Given the description of an element on the screen output the (x, y) to click on. 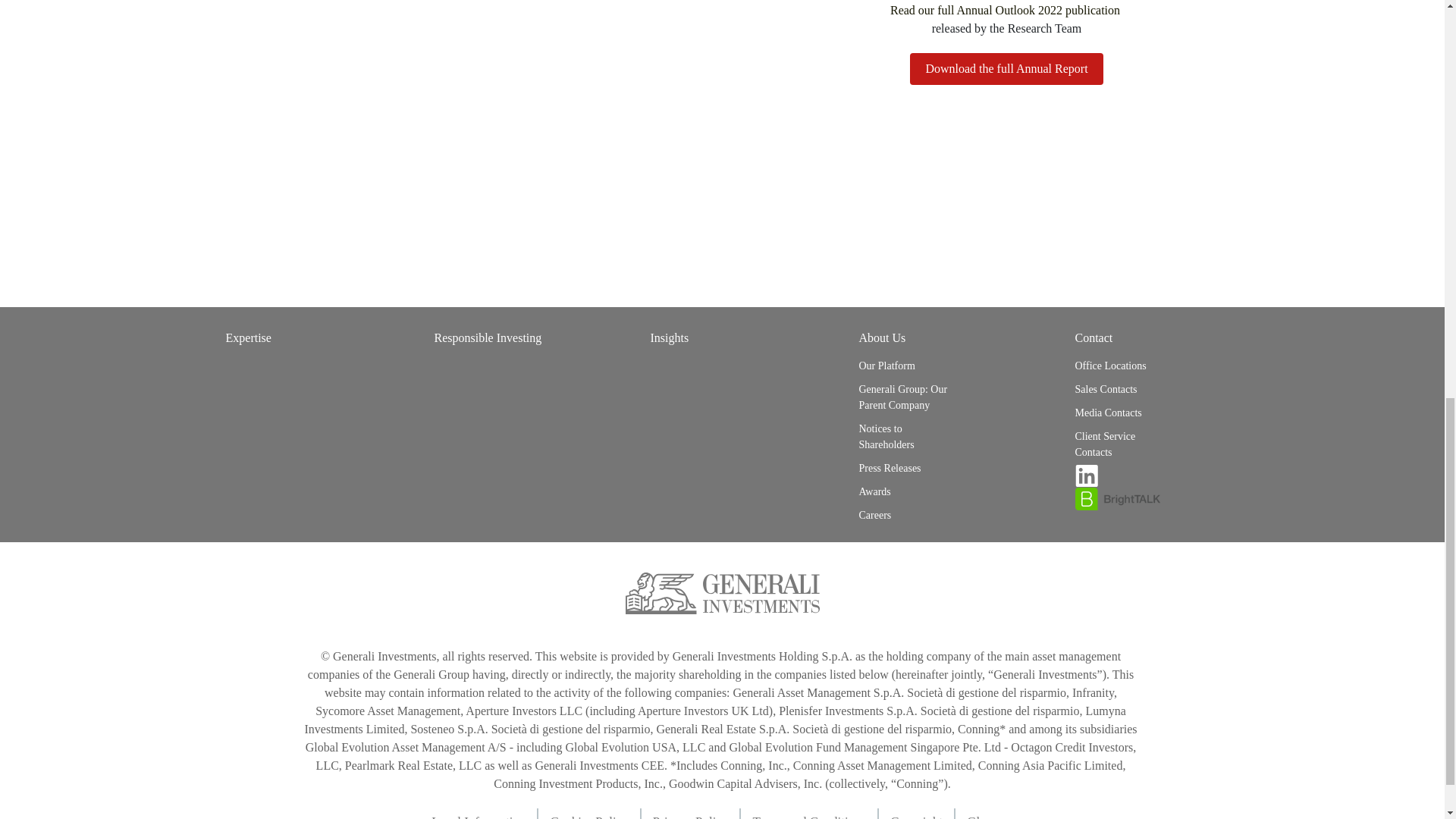
Generali Group: Our Parent Company (904, 396)
Press Releases (904, 467)
Privacy Policy (696, 813)
Copyright (922, 813)
Terms and Conditions (815, 813)
Media Contacts (1120, 413)
About Us (882, 337)
Insights (669, 337)
Client Service Contacts (1120, 444)
Expertise (247, 337)
Legal Information (484, 813)
Cookies Policy (595, 813)
Our Platform (904, 365)
Awards (904, 491)
Office Locations (1120, 365)
